Given the description of an element on the screen output the (x, y) to click on. 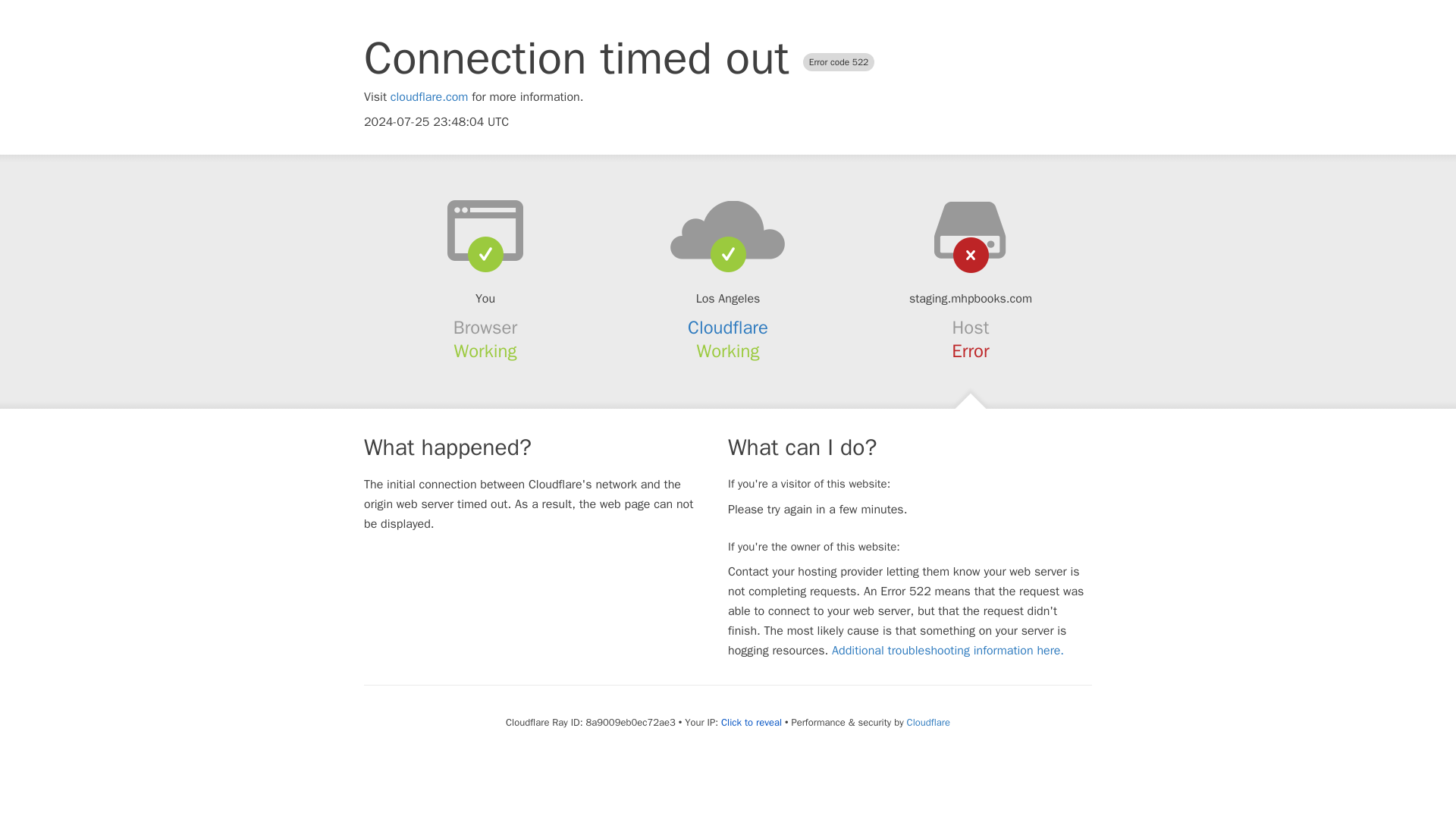
Additional troubleshooting information here. (947, 650)
Click to reveal (750, 722)
Cloudflare (928, 721)
cloudflare.com (429, 96)
Cloudflare (727, 327)
